Given the description of an element on the screen output the (x, y) to click on. 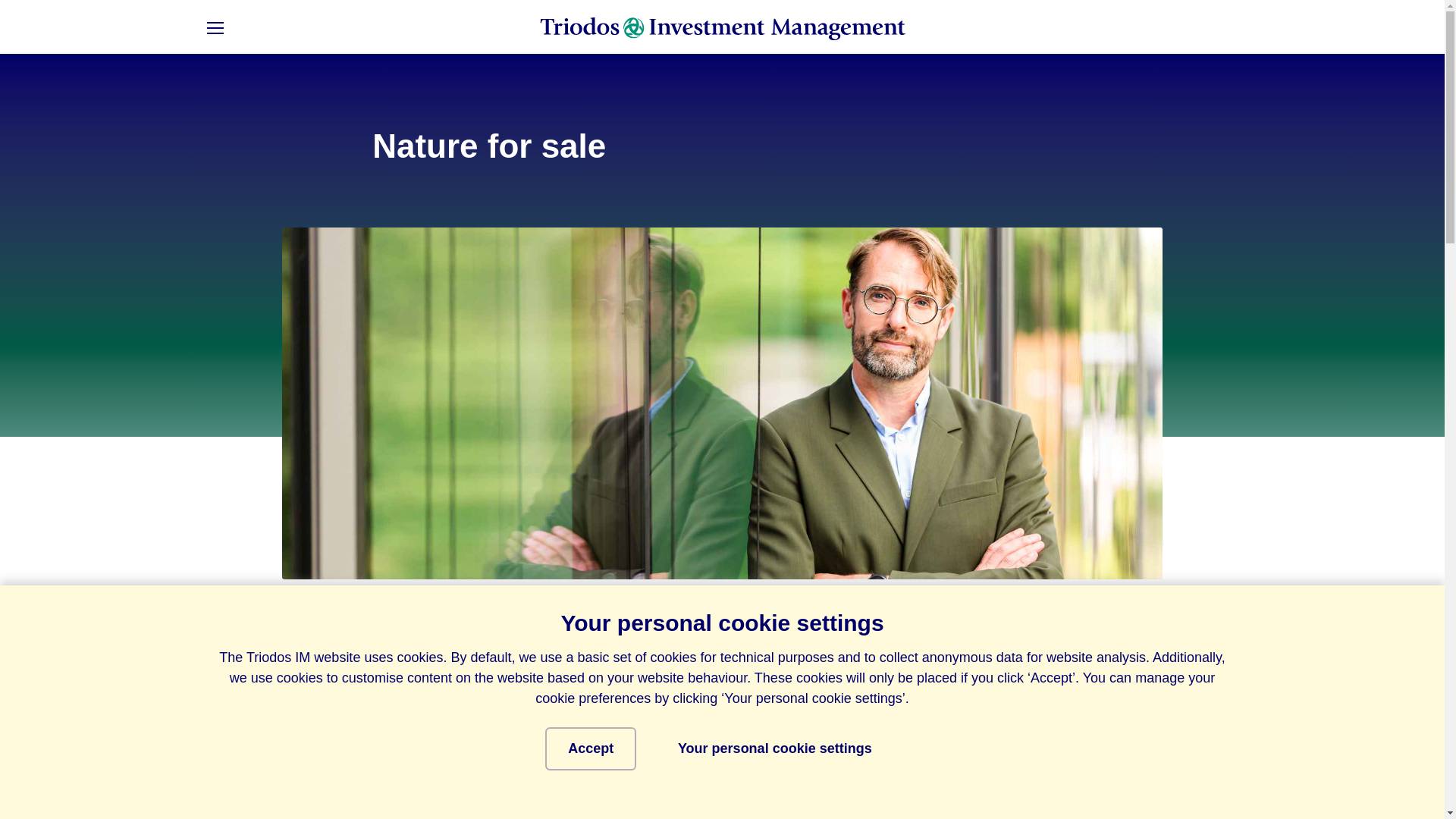
Open (214, 28)
Open (239, 28)
recent Bloomberg report (543, 638)
Share on (303, 635)
7 (1018, 729)
half of all economic activity depends on nature (788, 785)
Go to the homepage (722, 28)
